Given the description of an element on the screen output the (x, y) to click on. 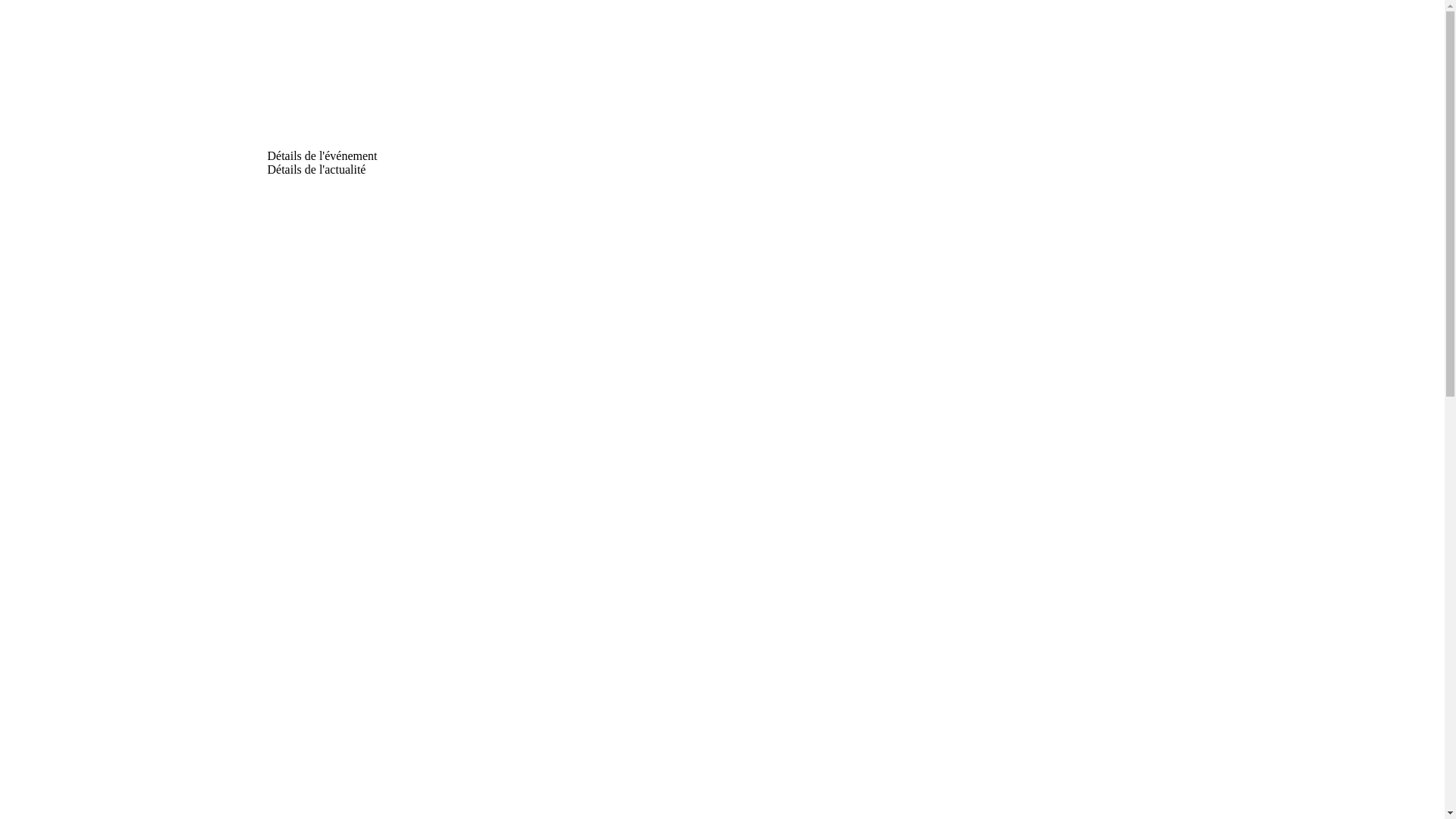
Resist Element type: hover (321, 77)
